Given the description of an element on the screen output the (x, y) to click on. 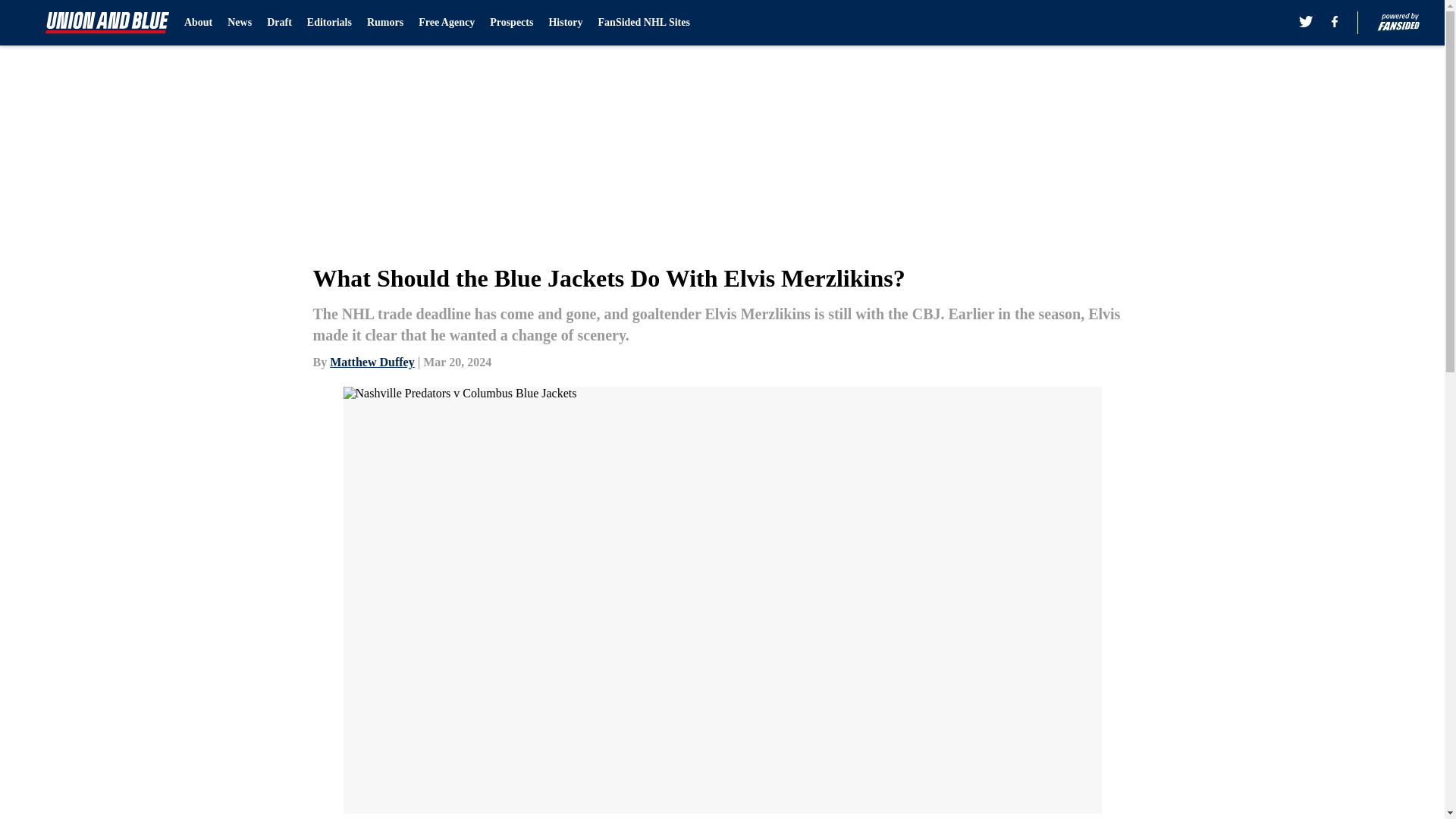
Editorials (329, 22)
FanSided NHL Sites (644, 22)
Draft (279, 22)
Prospects (510, 22)
Free Agency (446, 22)
News (239, 22)
Matthew Duffey (372, 361)
Rumors (384, 22)
About (198, 22)
